Given the description of an element on the screen output the (x, y) to click on. 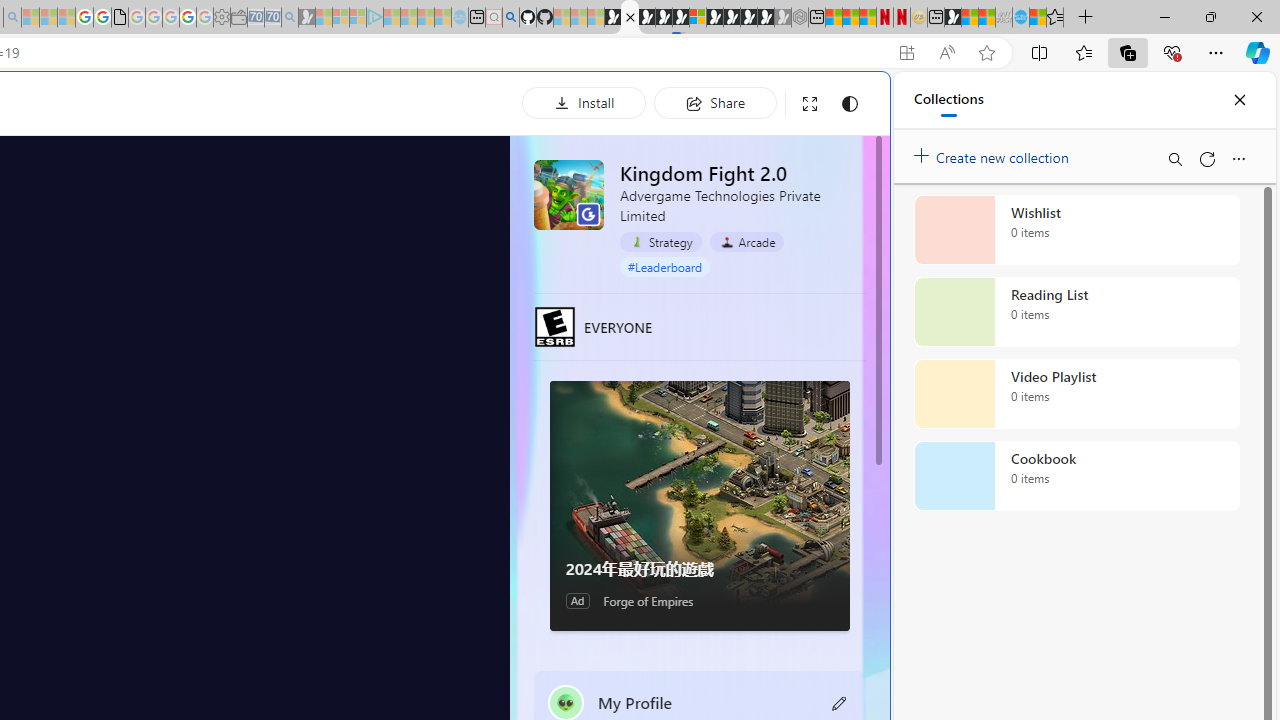
github - Search (510, 17)
Change to dark mode (849, 103)
Full screen (810, 103)
Arcade (746, 241)
